Given the description of an element on the screen output the (x, y) to click on. 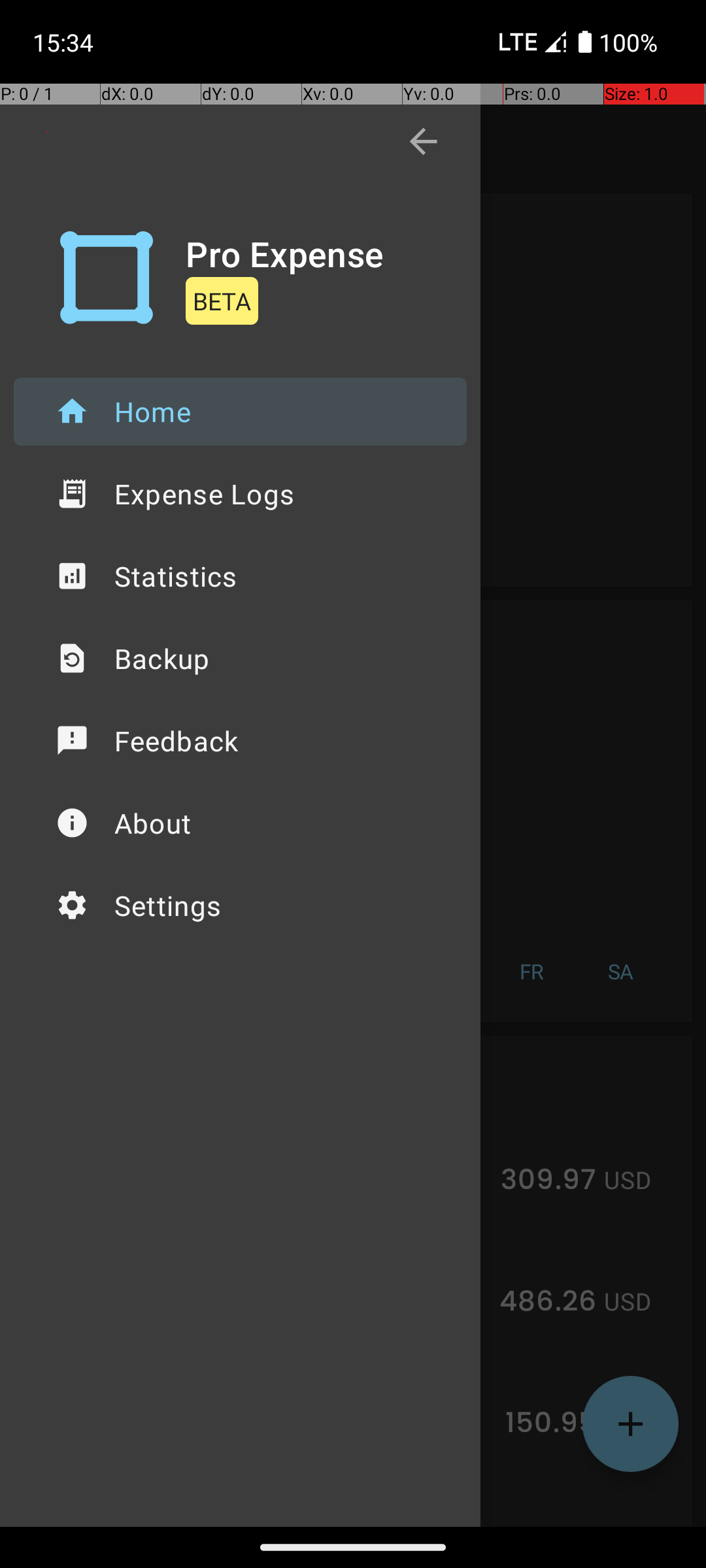
BETA Element type: android.widget.TextView (221, 300)
